Given the description of an element on the screen output the (x, y) to click on. 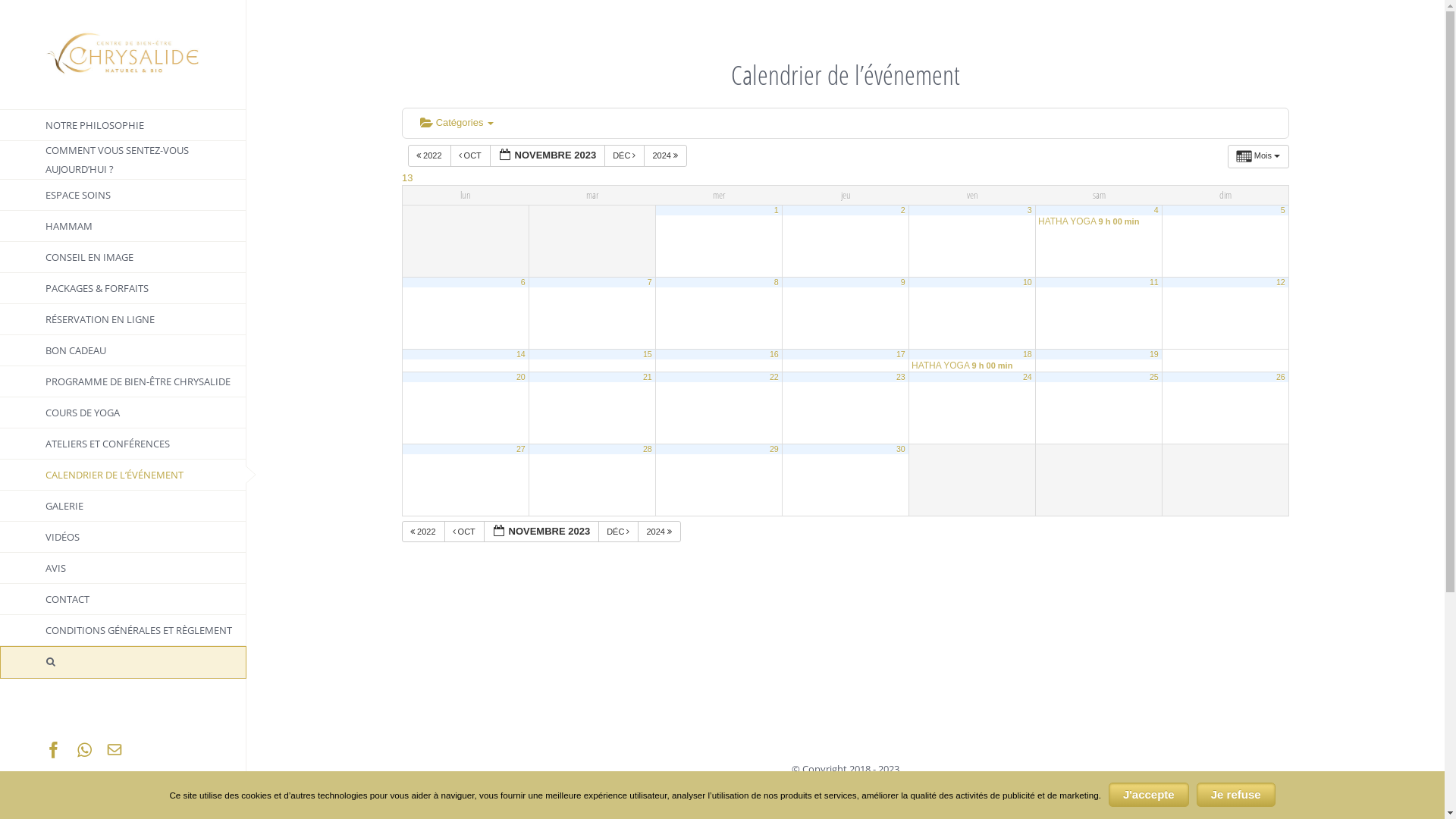
ESPACE SOINS Element type: text (123, 194)
28 Element type: text (647, 447)
29 Element type: text (773, 447)
5 Element type: text (1282, 208)
HATHA YOGA 9 h 00 min Element type: text (972, 364)
PACKAGES & FORFAITS Element type: text (123, 288)
3 Element type: text (1029, 208)
OCT Element type: text (470, 155)
13 Element type: text (406, 176)
Facebook Element type: text (53, 749)
21 Element type: text (647, 375)
2 Element type: text (902, 208)
6 Element type: text (522, 280)
Chercher Element type: hover (122, 661)
19 Element type: text (1153, 352)
2024 Element type: text (665, 155)
AVIS Element type: text (123, 567)
NOTRE PHILOSOPHIE Element type: text (123, 125)
GALERIE Element type: text (123, 505)
10 Element type: text (1027, 280)
CONSEIL EN IMAGE Element type: text (123, 257)
Je refuse Element type: text (1235, 794)
9 Element type: text (902, 280)
26 Element type: text (1280, 375)
17 Element type: text (900, 352)
NOVEMBRE 2023 Element type: text (547, 155)
15 Element type: text (647, 352)
25 Element type: text (1153, 375)
CONTACT Element type: text (123, 599)
1 Element type: text (776, 208)
BON CADEAU Element type: text (123, 350)
4 Element type: text (1156, 208)
23 Element type: text (900, 375)
11 Element type: text (1153, 280)
7 Element type: text (649, 280)
Whatsapp Element type: text (84, 749)
22 Element type: text (773, 375)
HAMMAM Element type: text (123, 225)
14 Element type: text (520, 352)
HATHA YOGA 9 h 00 min Element type: text (1098, 220)
2022 Element type: text (423, 531)
18 Element type: text (1027, 352)
12 Element type: text (1280, 280)
27 Element type: text (520, 447)
Un renseignement? Un commentaire? Element type: text (114, 749)
Mois Element type: text (1258, 155)
2022 Element type: text (429, 155)
8 Element type: text (776, 280)
24 Element type: text (1027, 375)
J'accepte Element type: text (1148, 794)
30 Element type: text (900, 447)
COURS DE YOGA Element type: text (123, 412)
16 Element type: text (773, 352)
20 Element type: text (520, 375)
2024 Element type: text (658, 531)
NOVEMBRE 2023 Element type: text (541, 531)
OCT Element type: text (464, 531)
